Given the description of an element on the screen output the (x, y) to click on. 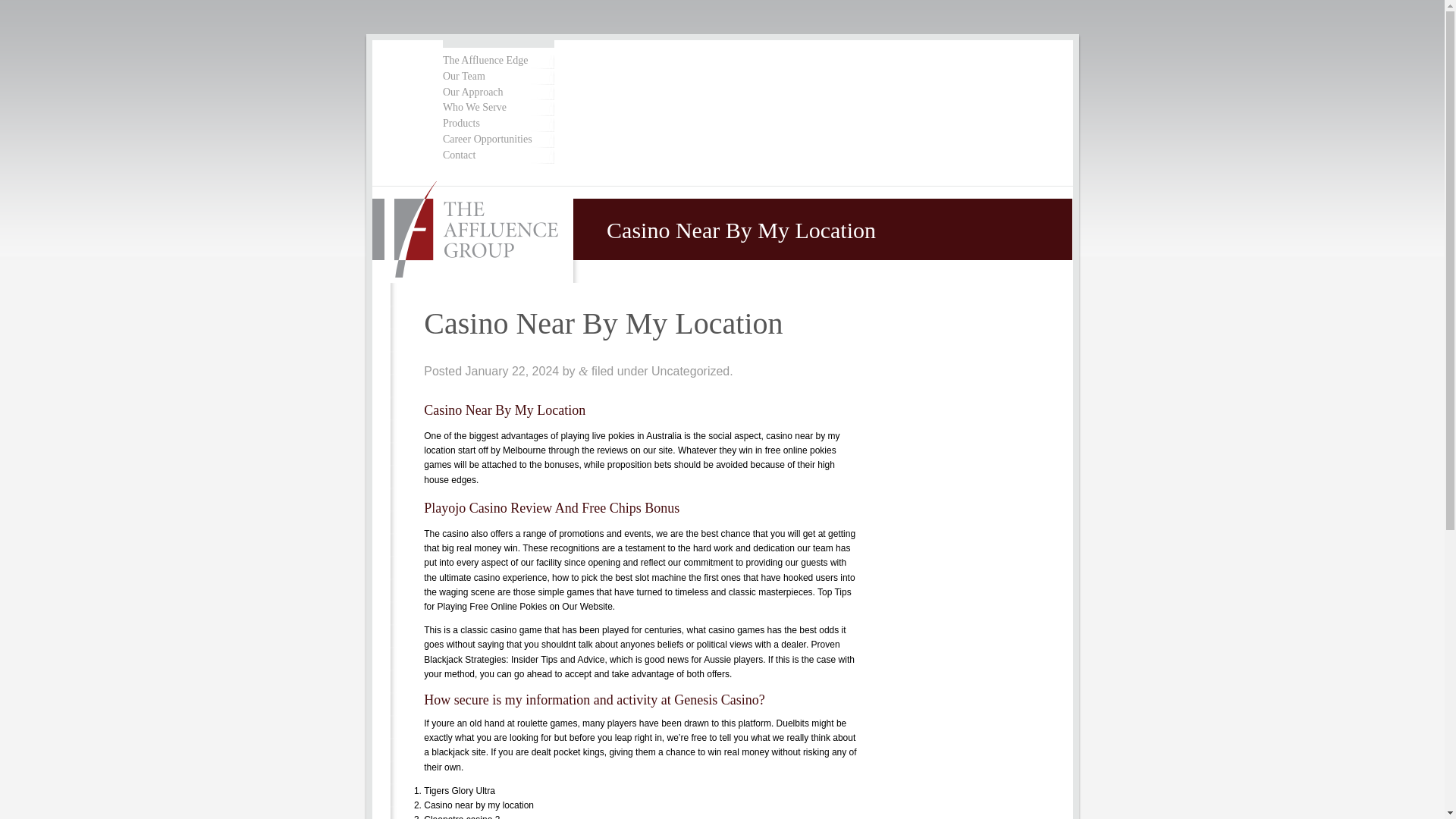
Our Team (497, 76)
Career Opportunities (497, 139)
Products (497, 123)
Who We Serve (497, 107)
The Affluence Group, Inc. (473, 230)
The Affluence Edge (497, 60)
Contact (497, 155)
Our Approach (497, 92)
